Given the description of an element on the screen output the (x, y) to click on. 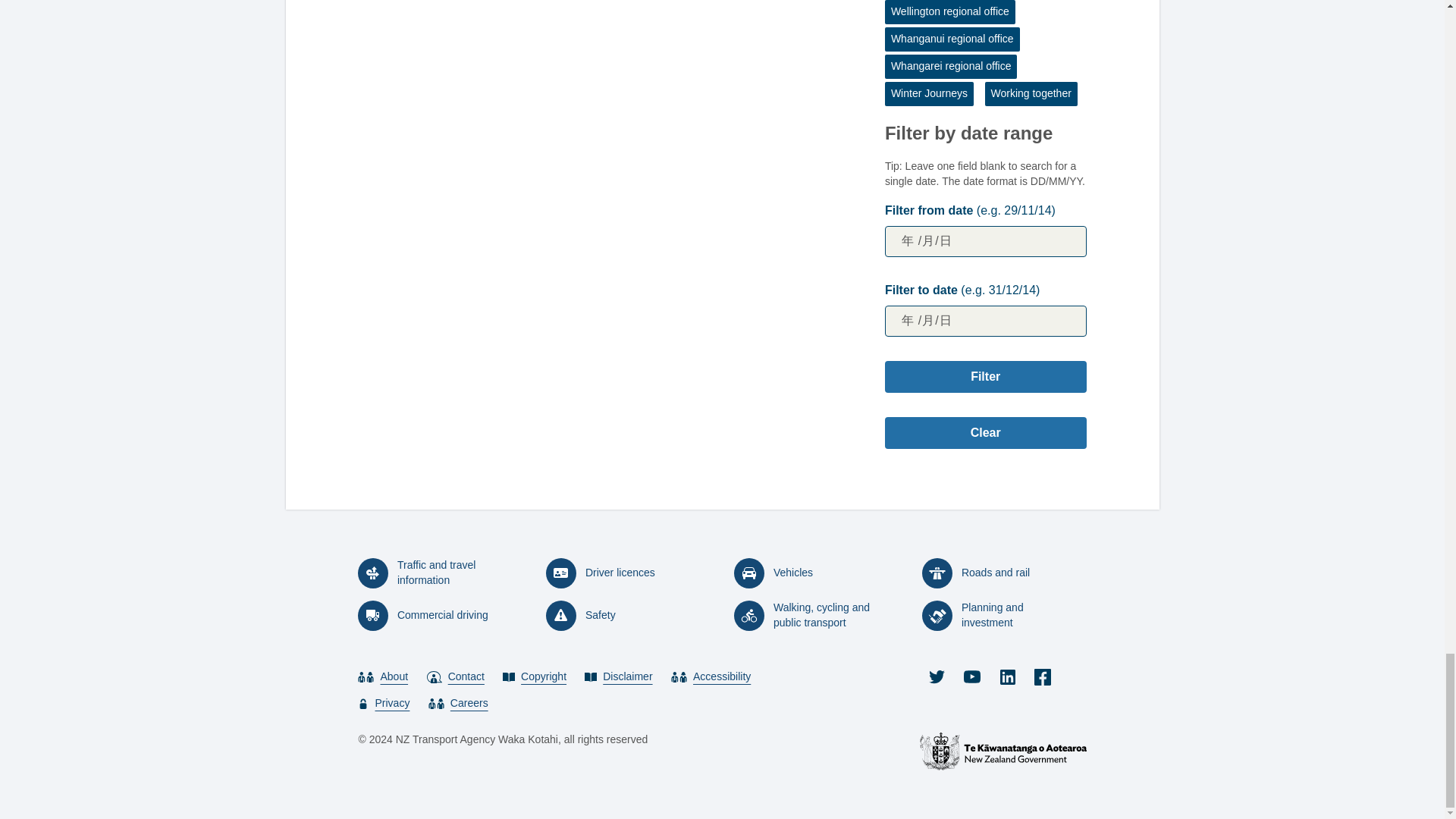
Filter (985, 377)
Clear (985, 432)
